Given the description of an element on the screen output the (x, y) to click on. 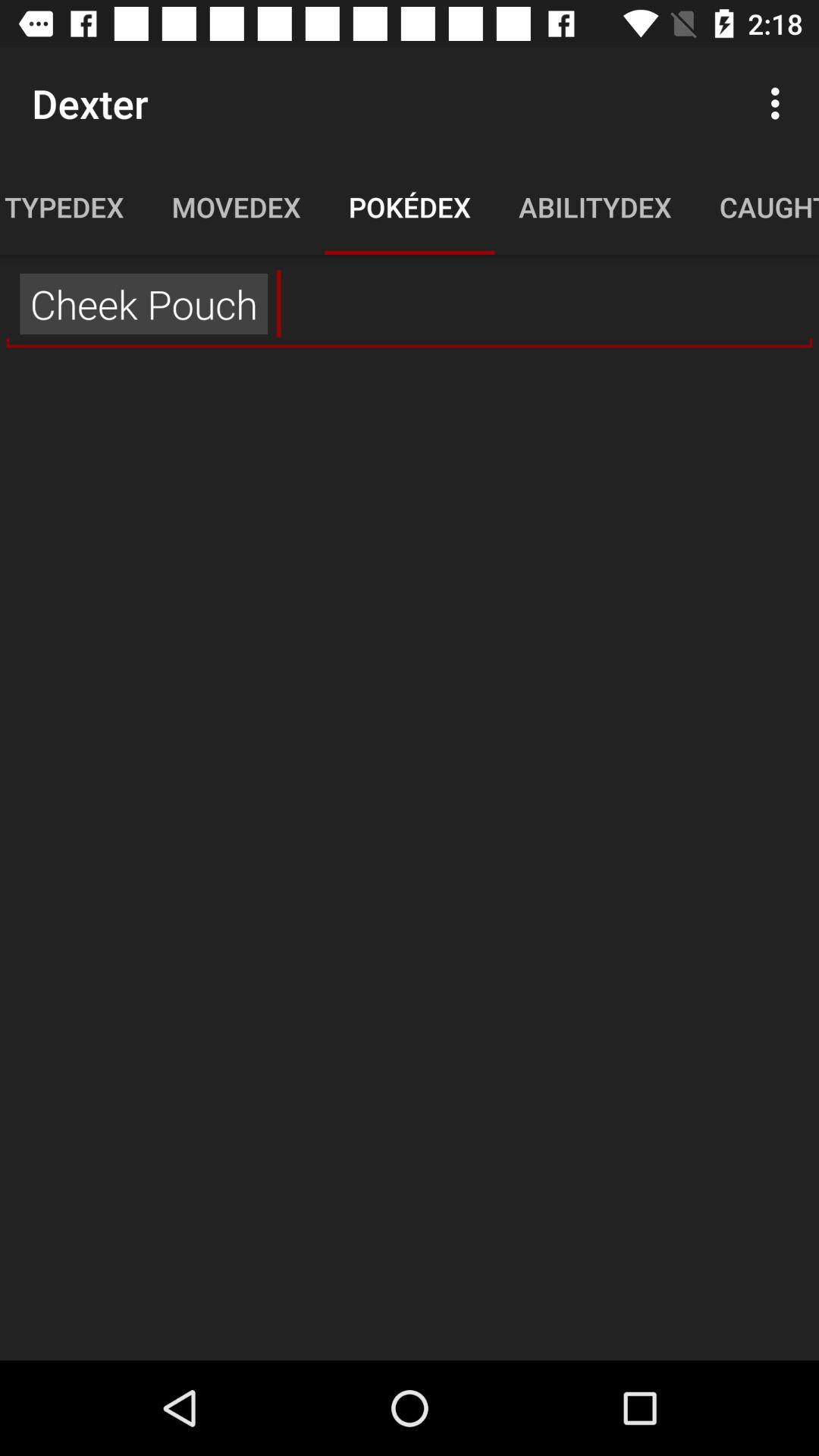
flip to the ,, (409, 304)
